Given the description of an element on the screen output the (x, y) to click on. 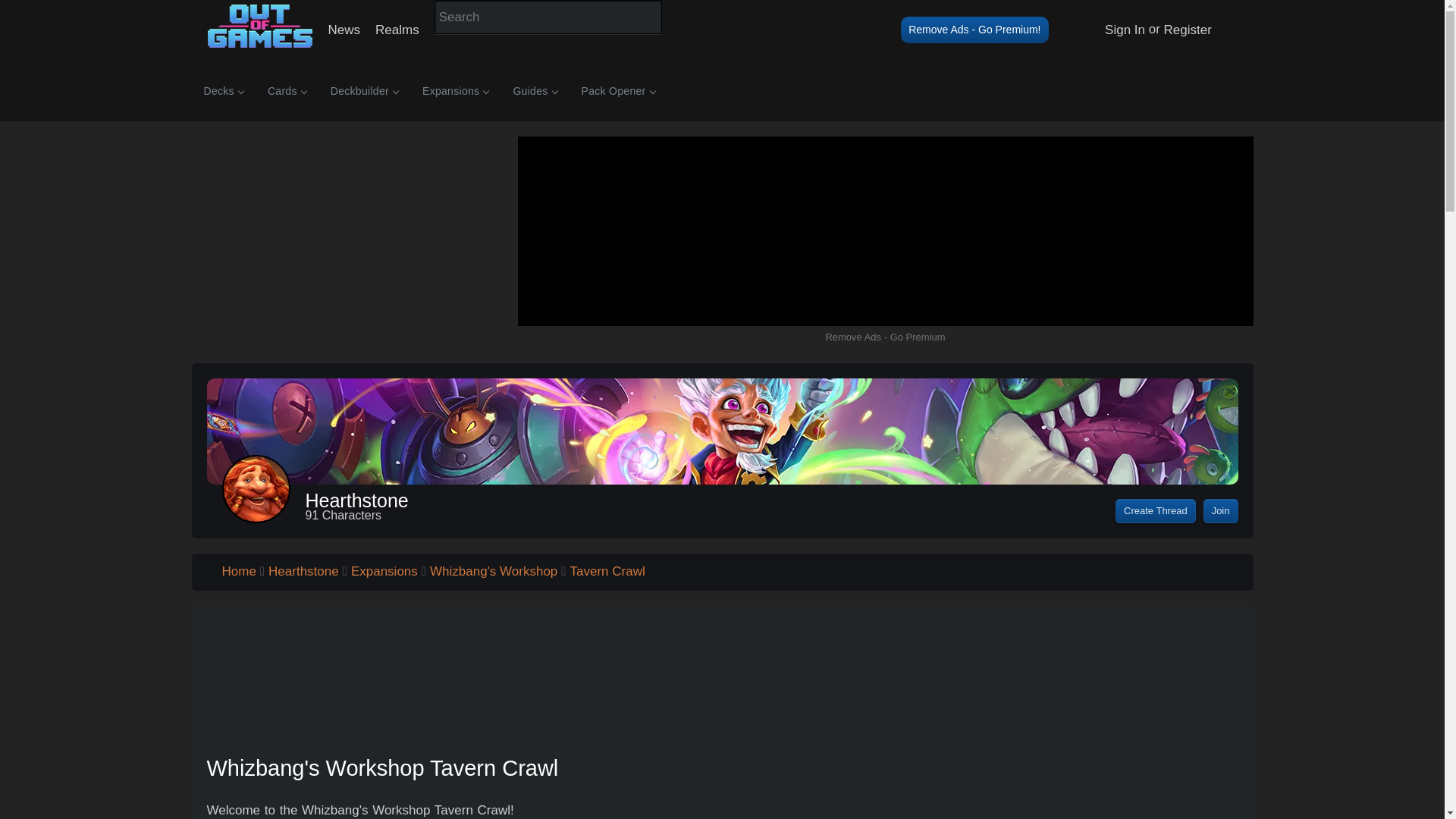
View all Realms (397, 30)
Remove Ads - Go Premium! (974, 29)
Cards (287, 90)
Realms (397, 30)
Support the site and remove ads - Get Out of Games Premium! (974, 29)
Find the Best Hearthstone Decks to Play on Ladder (222, 90)
Out of Games Homepage (721, 90)
Decks (258, 48)
Register (222, 90)
